Given the description of an element on the screen output the (x, y) to click on. 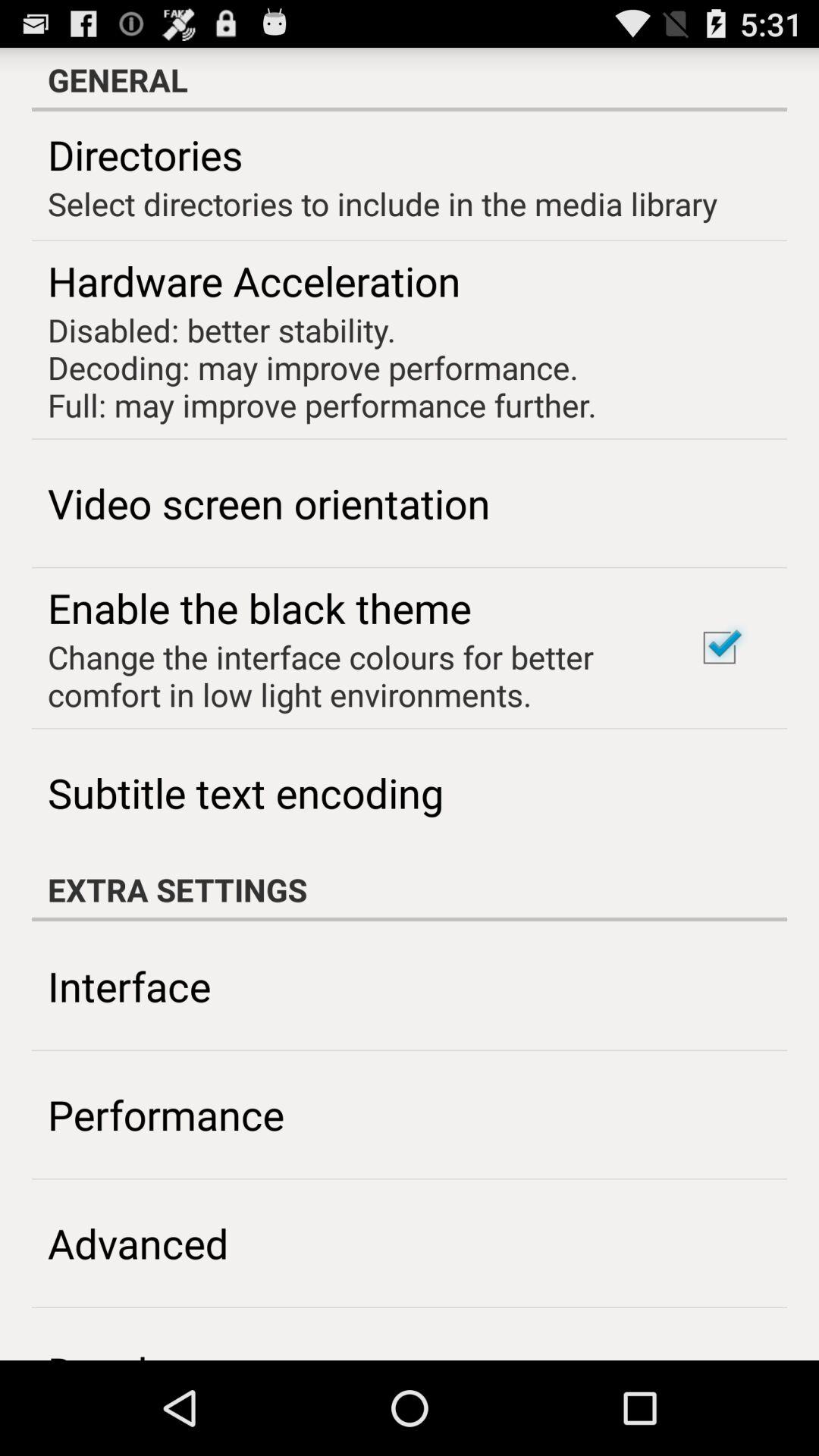
open item below the directories app (382, 203)
